Given the description of an element on the screen output the (x, y) to click on. 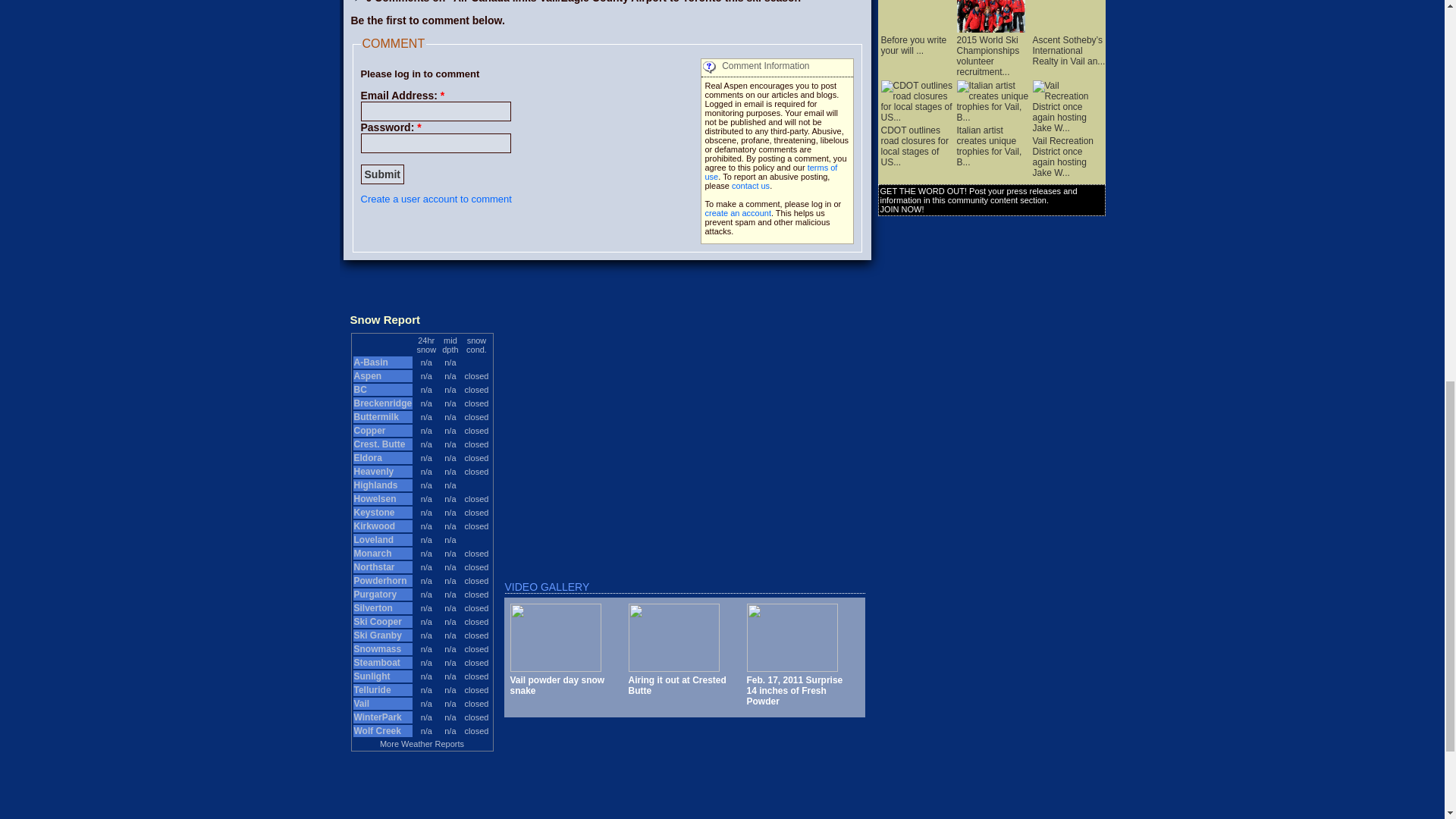
create an account (737, 212)
Click here to join and comment (436, 198)
Submit (382, 174)
terms of use (771, 171)
contact us (751, 185)
Before you write your will ... (914, 40)
2015 World Ski Championships volunteer recruitment... (990, 50)
Create a user account to comment (436, 198)
Submit (382, 174)
